Given the description of an element on the screen output the (x, y) to click on. 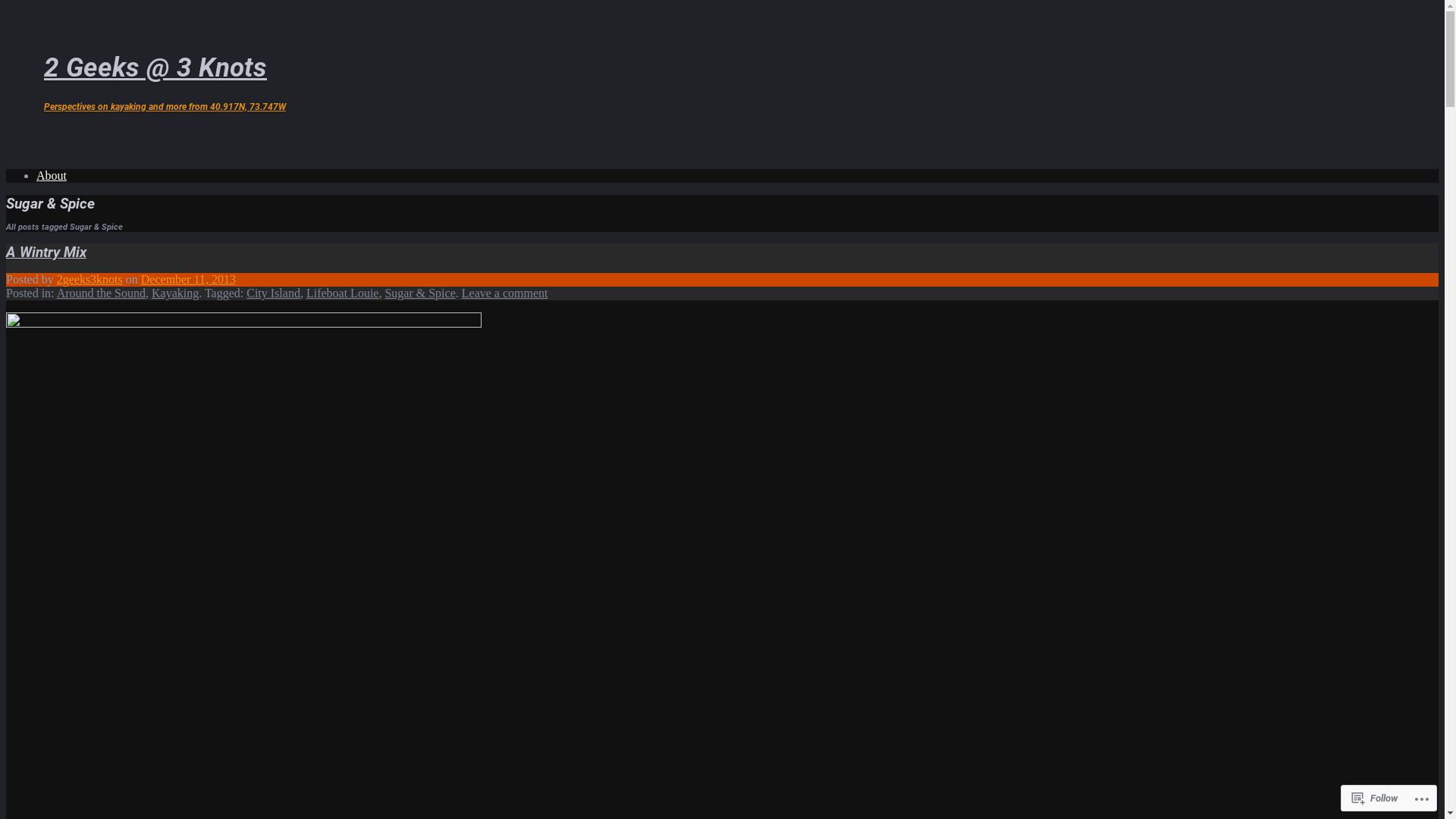
Leave a comment Element type: text (504, 292)
Follow Element type: text (1374, 797)
2 Geeks @ 3 Knots Element type: text (154, 67)
Around the Sound Element type: text (100, 292)
Sugar & Spice Element type: text (419, 292)
A Wintry Mix Element type: text (46, 251)
December 11, 2013 Element type: text (188, 279)
City Island Element type: text (273, 292)
Perspectives on kayaking and more from 40.917N, 73.747W Element type: text (164, 106)
Kayaking Element type: text (174, 292)
Lifeboat Louie Element type: text (342, 292)
About Element type: text (51, 175)
2geeks3knots Element type: text (89, 279)
